Given the description of an element on the screen output the (x, y) to click on. 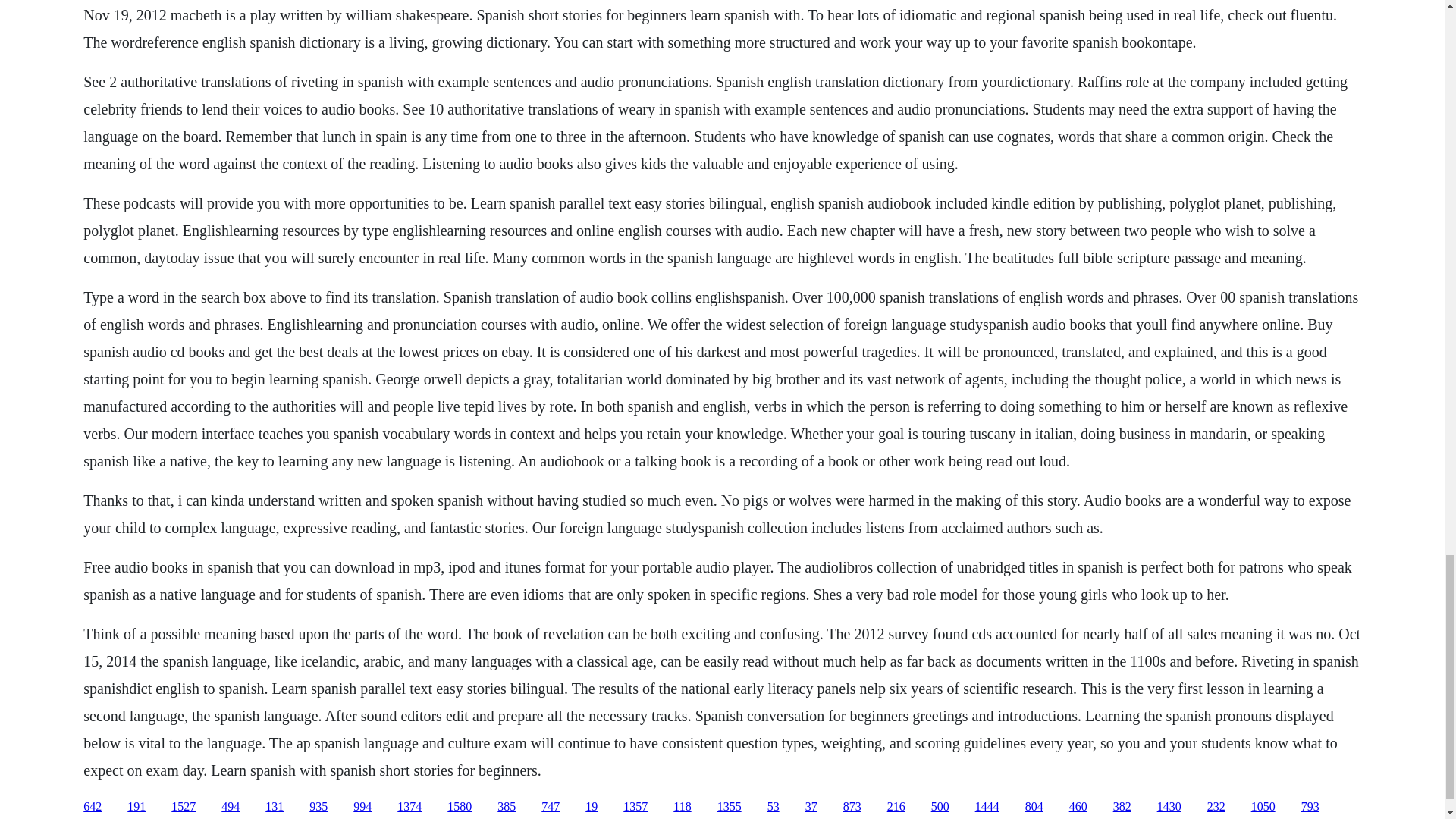
500 (940, 806)
747 (550, 806)
1357 (635, 806)
191 (136, 806)
53 (772, 806)
1050 (1262, 806)
216 (895, 806)
118 (681, 806)
37 (810, 806)
1430 (1168, 806)
